Given the description of an element on the screen output the (x, y) to click on. 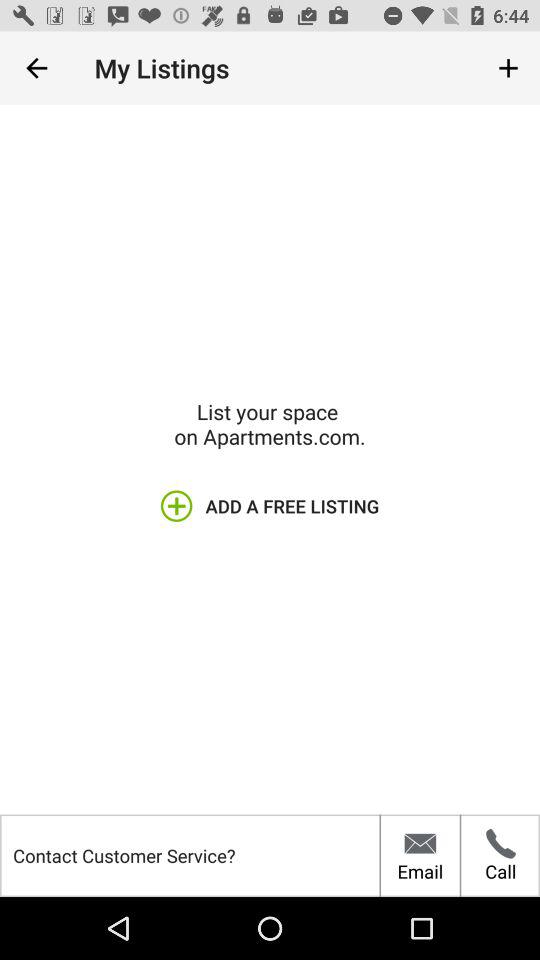
choose icon to the left of my listings item (36, 68)
